Given the description of an element on the screen output the (x, y) to click on. 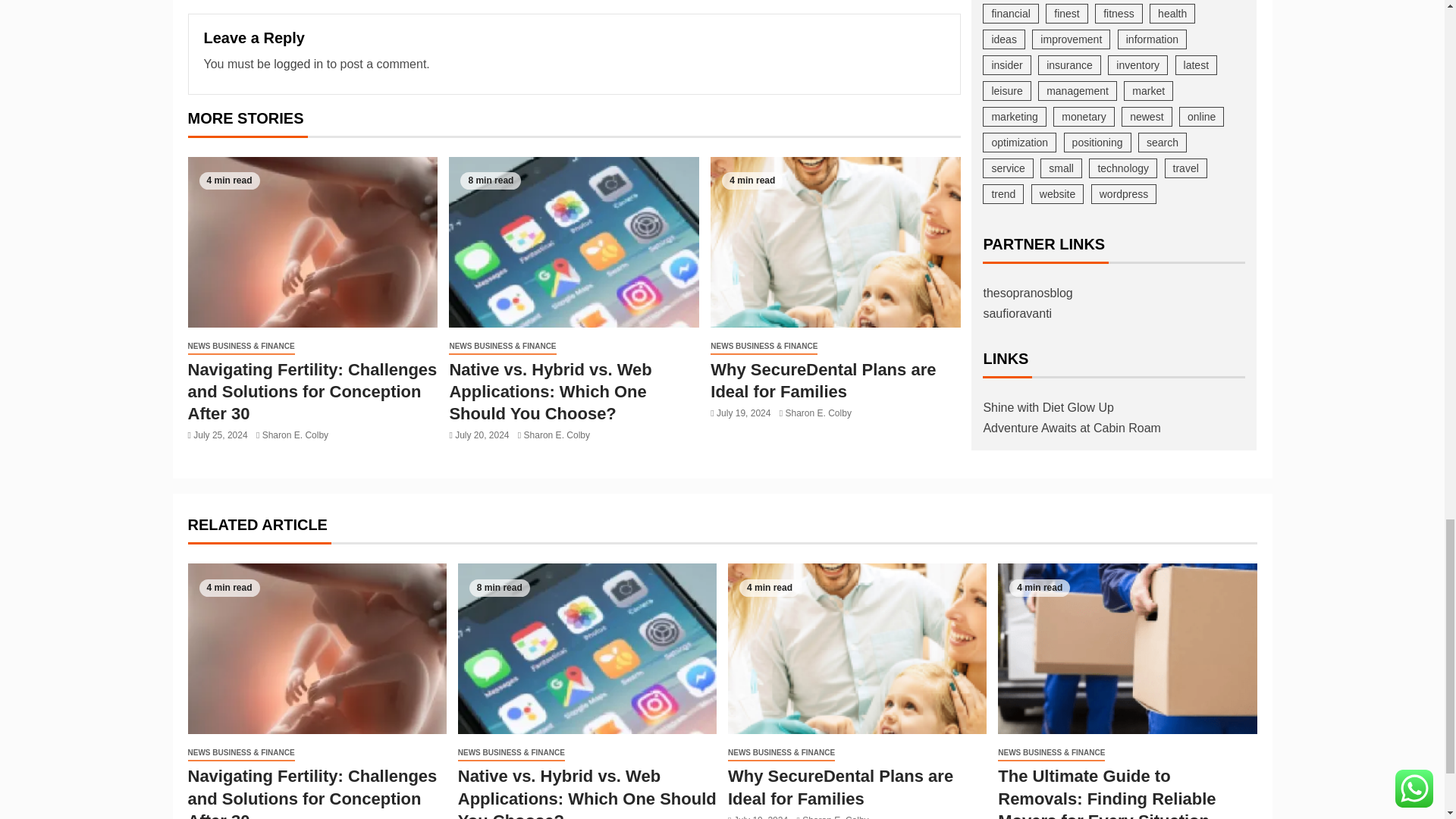
Why SecureDental Plans are Ideal for Families (835, 242)
